Given the description of an element on the screen output the (x, y) to click on. 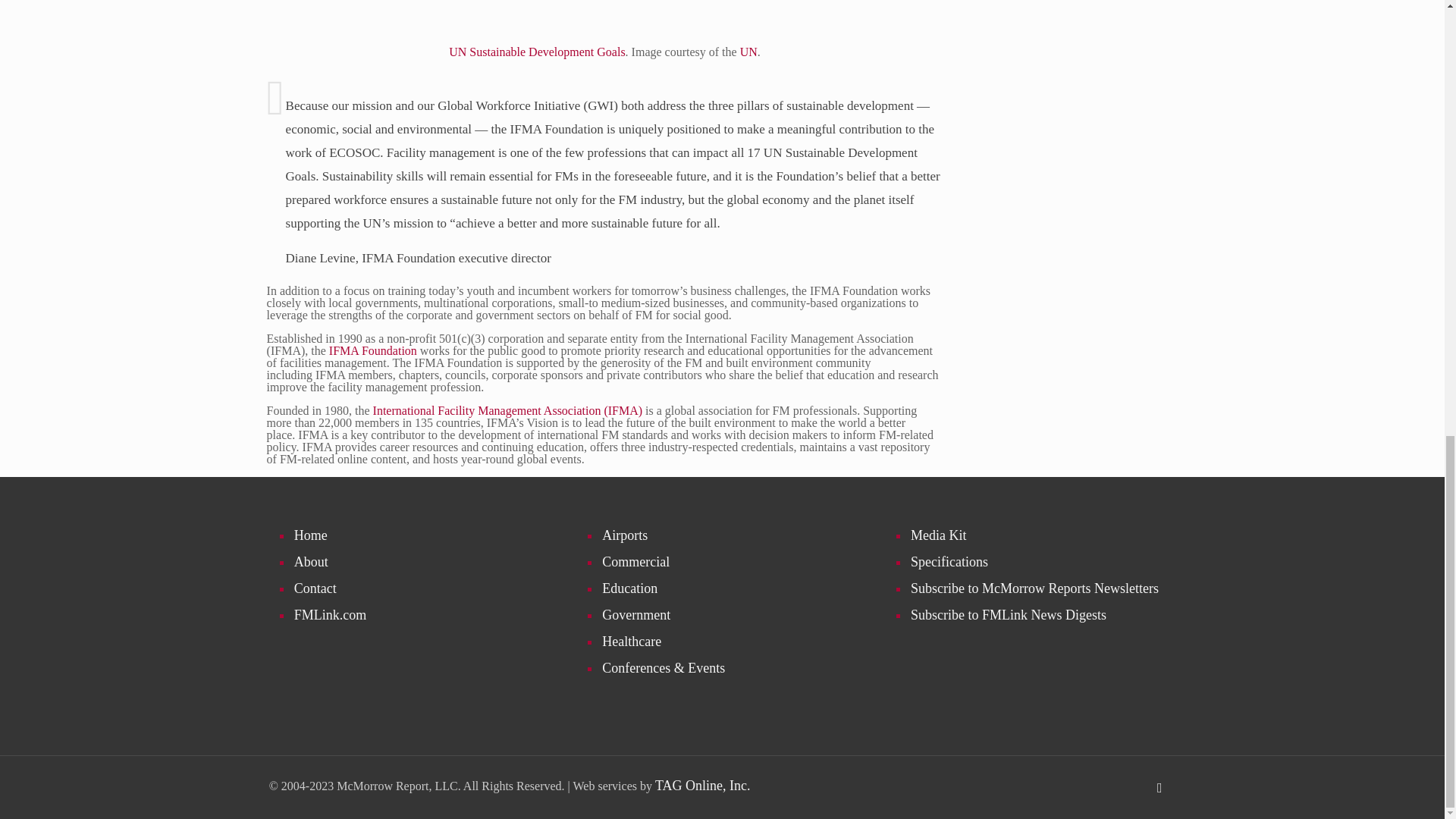
Education (729, 588)
Commercial (729, 561)
About (421, 561)
FMLink.com (421, 614)
IFMA Foundation (372, 350)
LinkedIn (1093, 779)
Home (421, 535)
Airports (729, 535)
Contact (421, 588)
Twitter (1116, 779)
UN (748, 51)
Government (729, 614)
UN Sustainable Development Goals (536, 51)
